Given the description of an element on the screen output the (x, y) to click on. 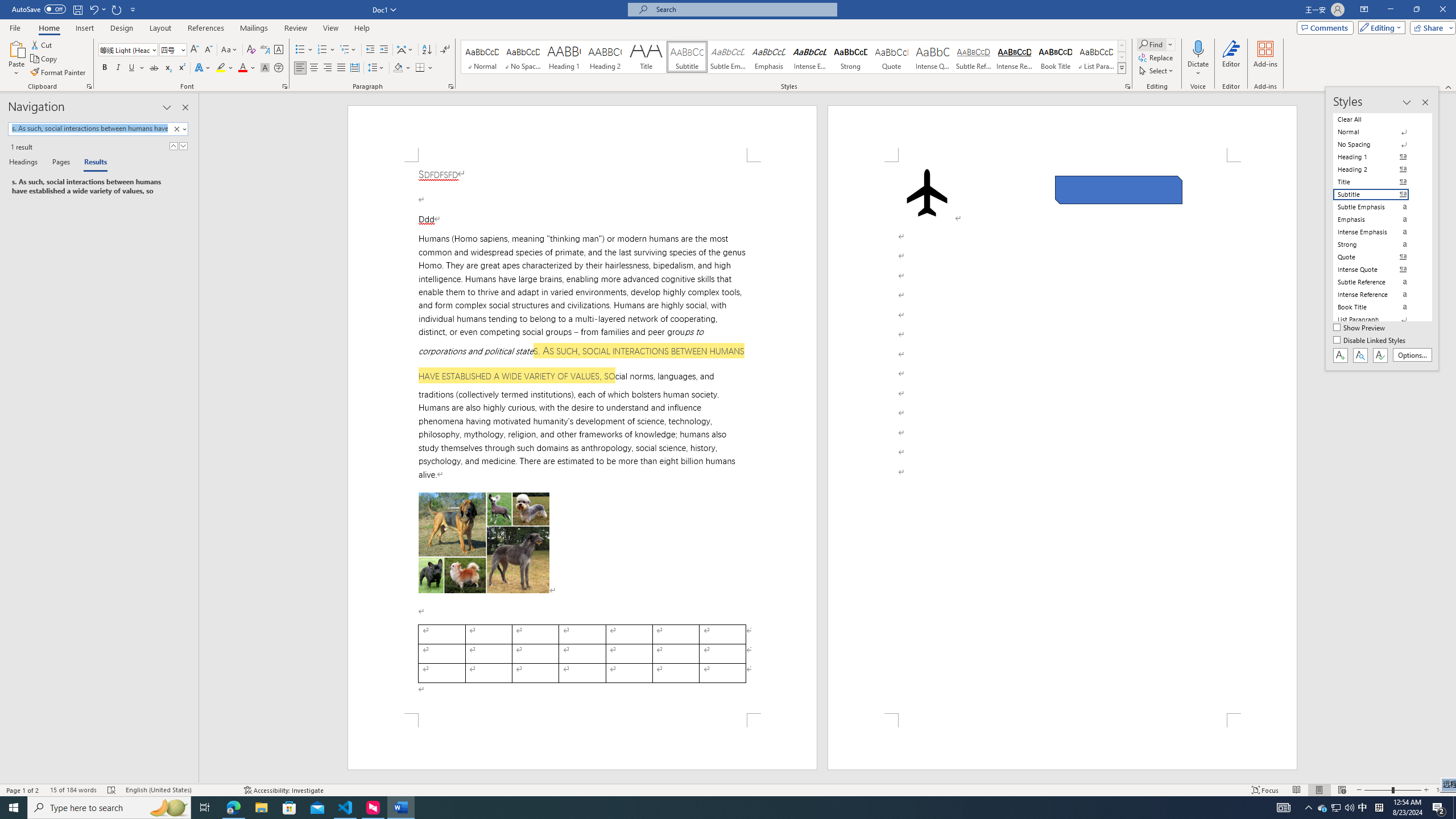
Page 1 content (581, 437)
Page Number Page 1 of 2 (22, 790)
Previous Result (173, 145)
Result 1 of 1 (94, 186)
Clear (178, 128)
Subtle Reference (973, 56)
Page 2 content (1062, 437)
Airplane with solid fill (926, 192)
